Given the description of an element on the screen output the (x, y) to click on. 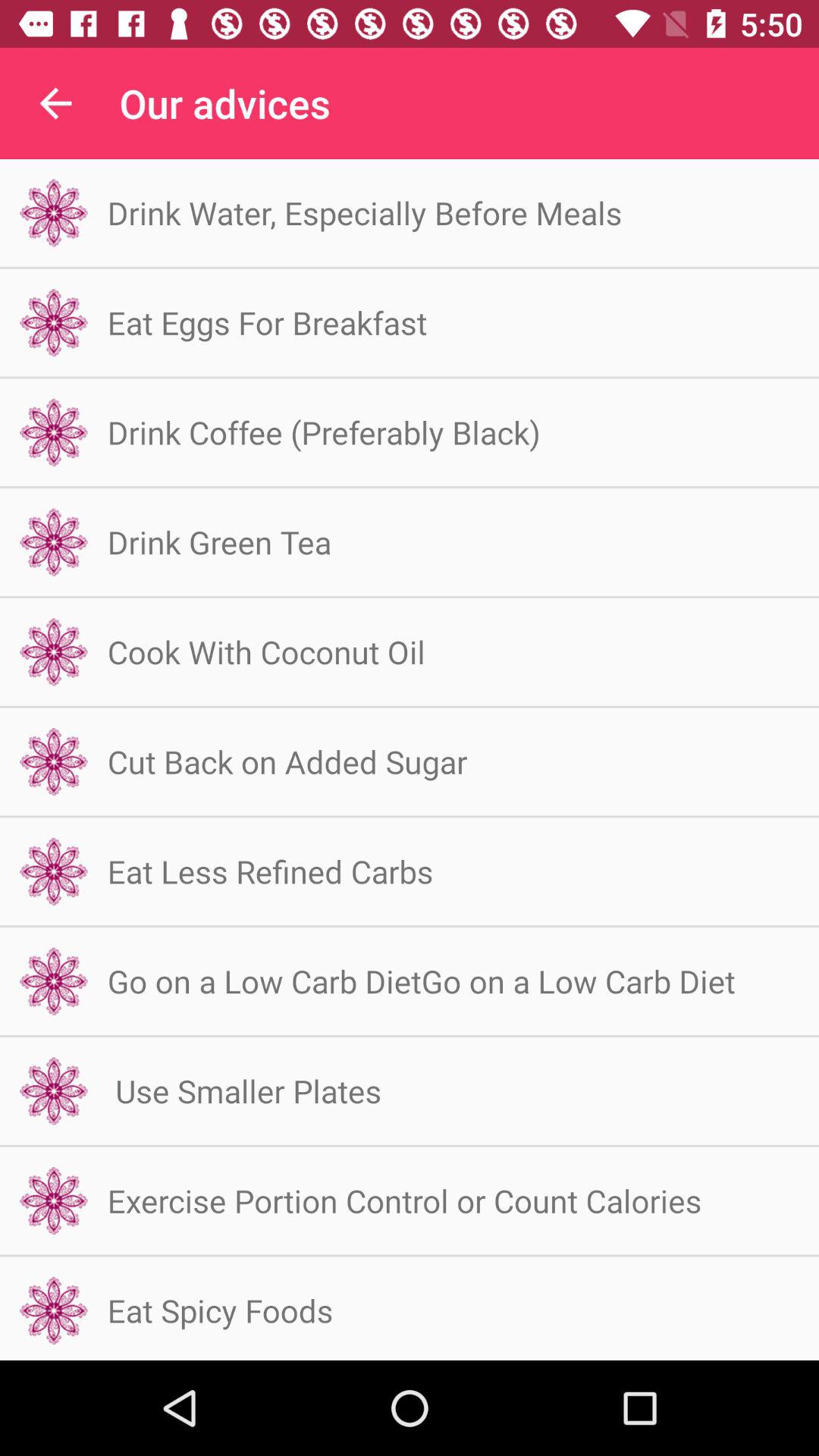
choose drink water especially (364, 212)
